Given the description of an element on the screen output the (x, y) to click on. 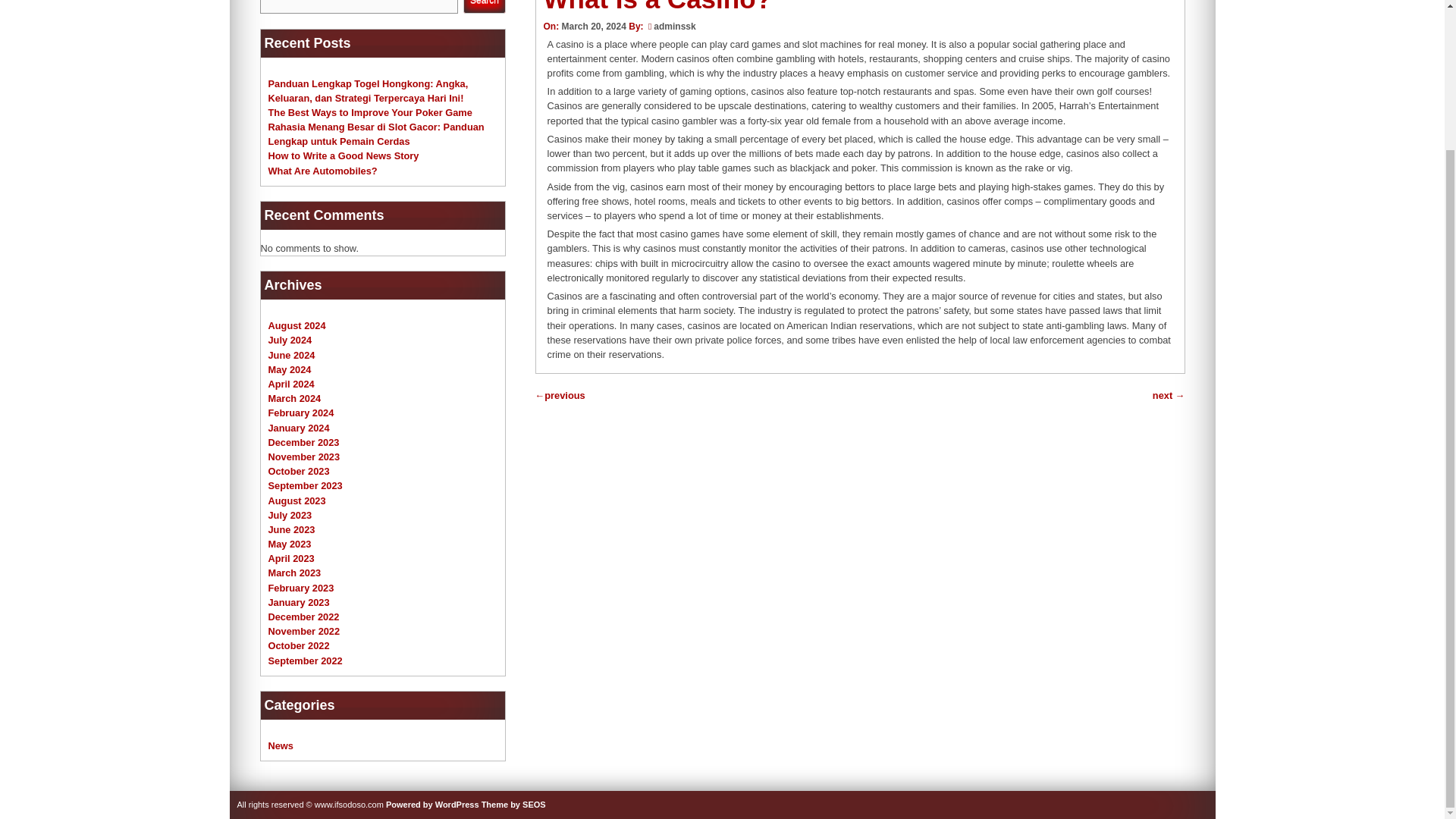
March 2024 (294, 398)
The Best Ways to Improve Your Poker Game (369, 112)
January 2023 (298, 602)
November 2023 (303, 456)
June 2023 (291, 529)
March 2023 (294, 572)
January 2024 (298, 428)
October 2022 (298, 645)
June 2024 (291, 355)
What Are Automobiles? (322, 170)
